Given the description of an element on the screen output the (x, y) to click on. 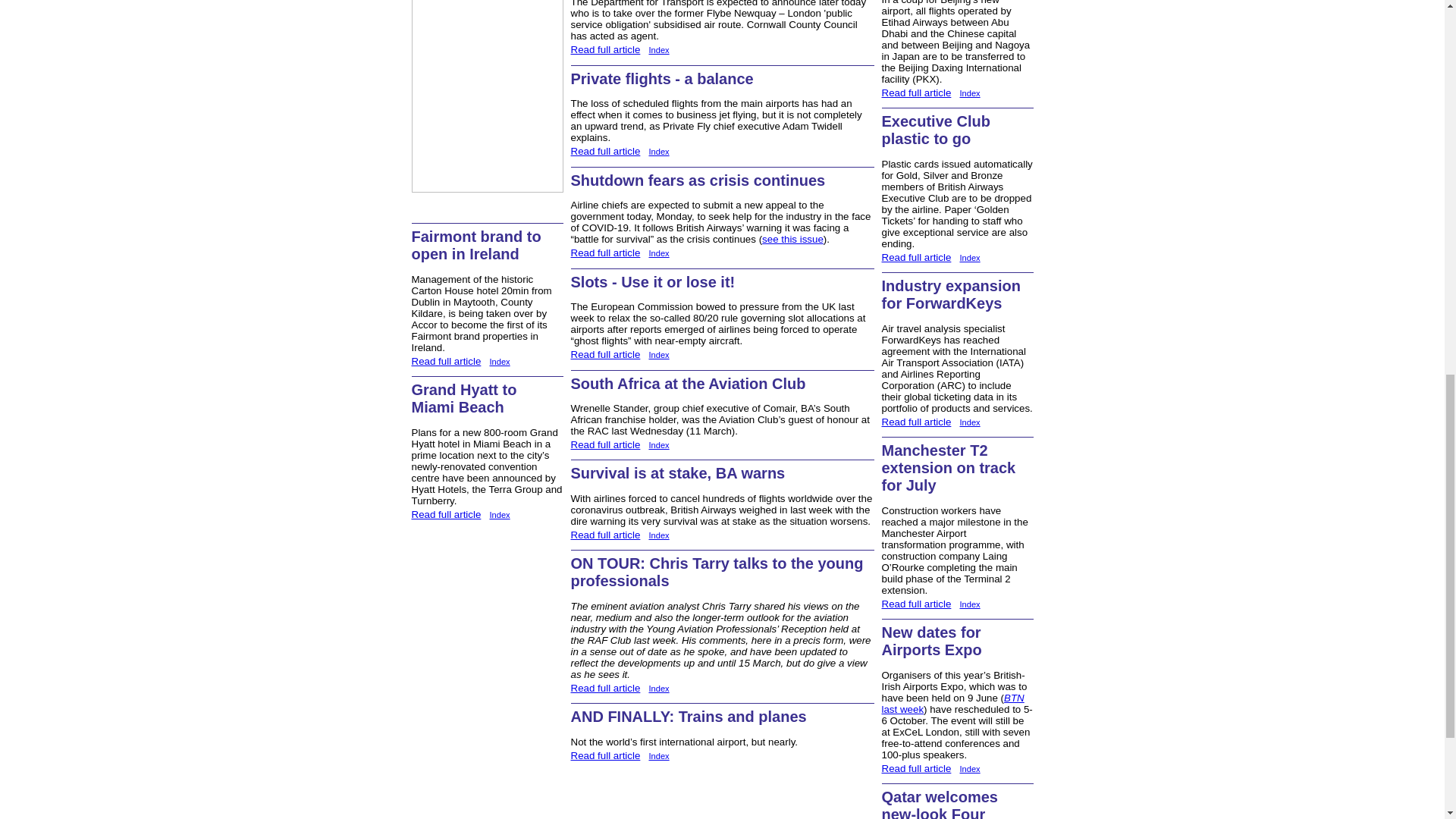
Index (499, 361)
Fairmont brand to open in Ireland (475, 245)
Read full article (445, 514)
Grand Hyatt to Miami Beach (463, 398)
Read full article (445, 360)
